Given the description of an element on the screen output the (x, y) to click on. 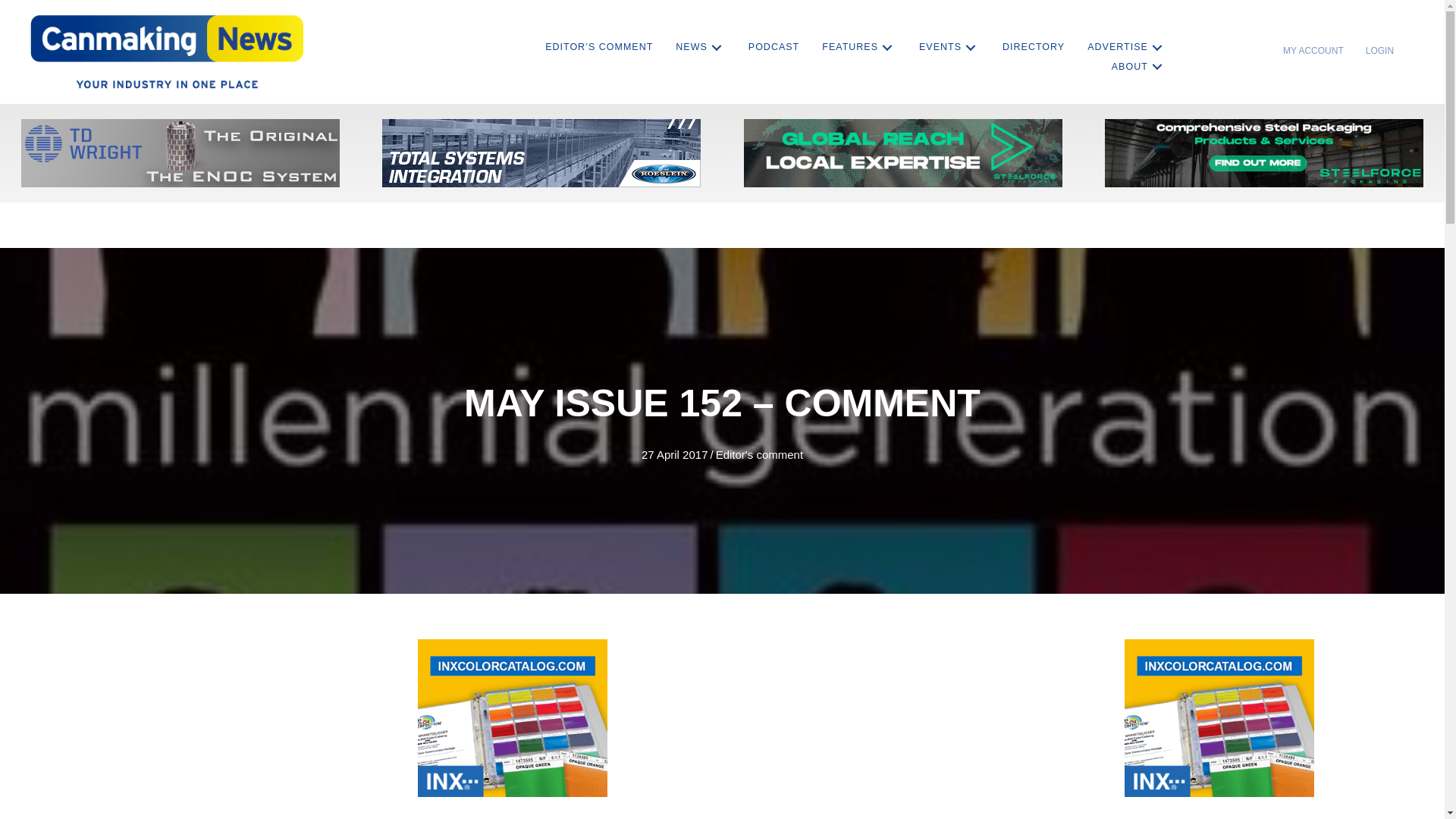
EVENTS (949, 47)
FEATURES (858, 47)
ADVERTISE (1126, 47)
DIRECTORY (1032, 47)
ABOUT (1138, 66)
PODCAST (773, 47)
LOGIN (1380, 50)
Editor's comment (759, 454)
NEWS (700, 47)
MY ACCOUNT (1313, 50)
